Given the description of an element on the screen output the (x, y) to click on. 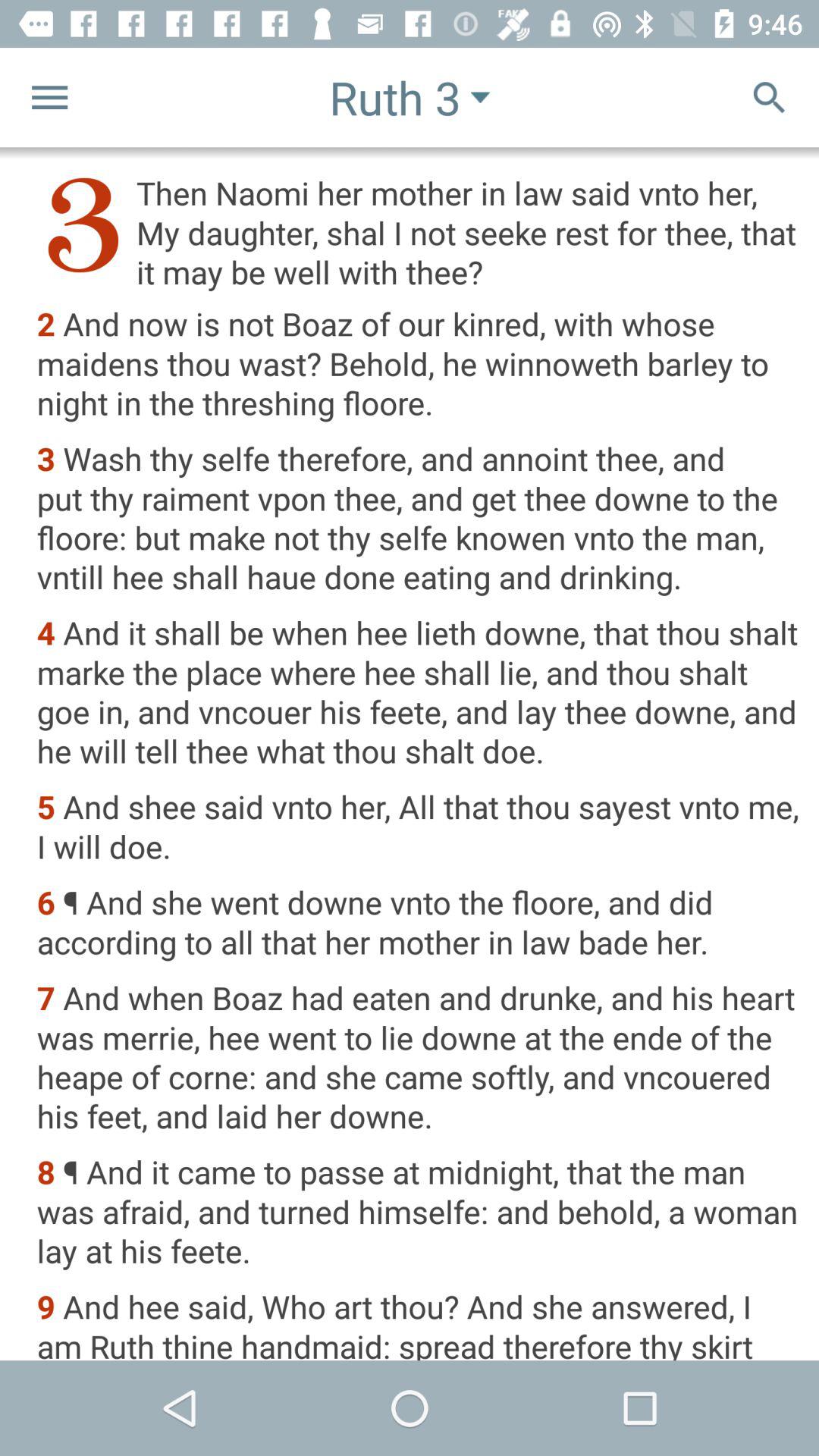
click item below 4 and it (417, 827)
